Given the description of an element on the screen output the (x, y) to click on. 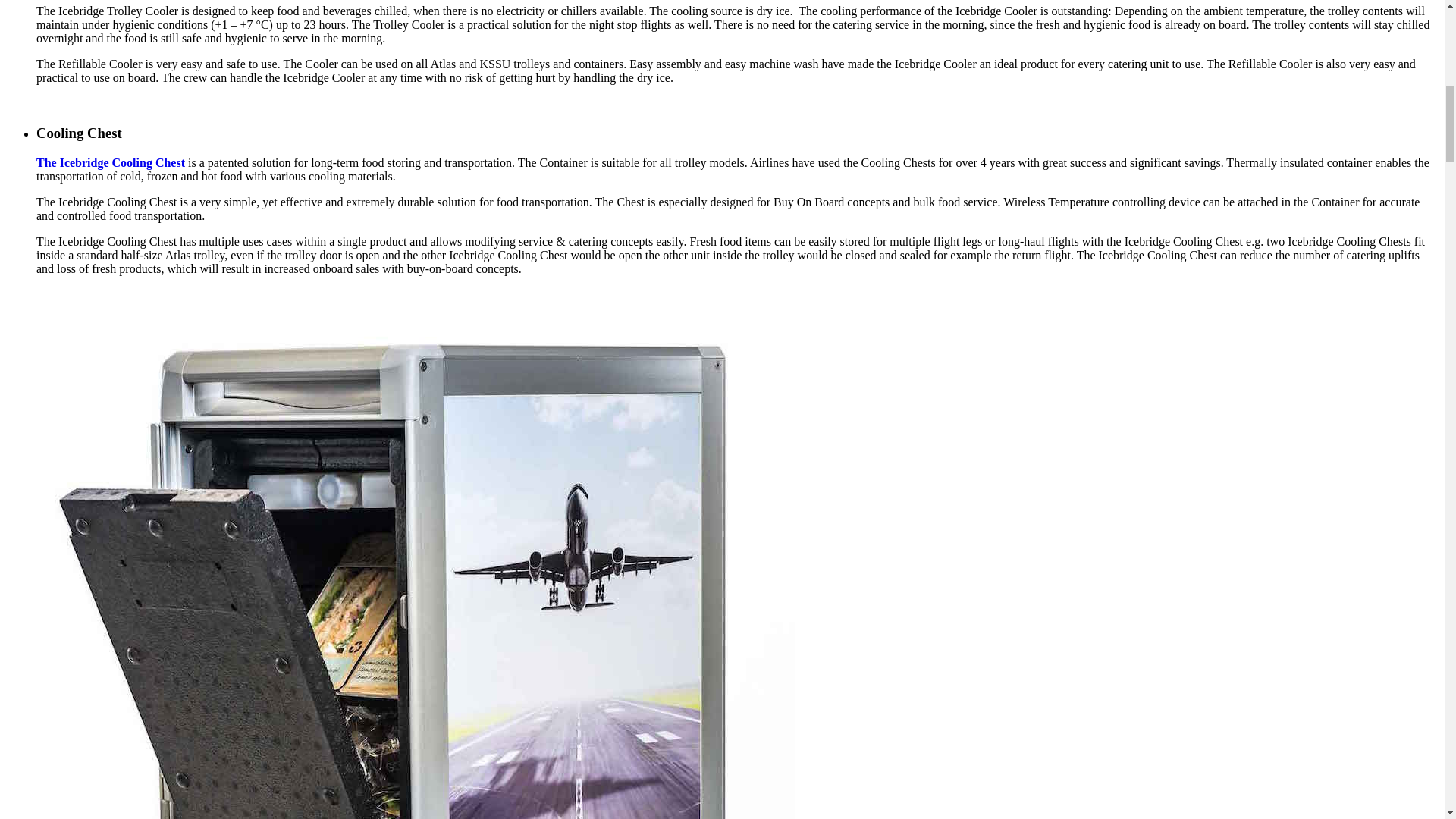
The Icebridge Cooling Chest (110, 162)
